Given the description of an element on the screen output the (x, y) to click on. 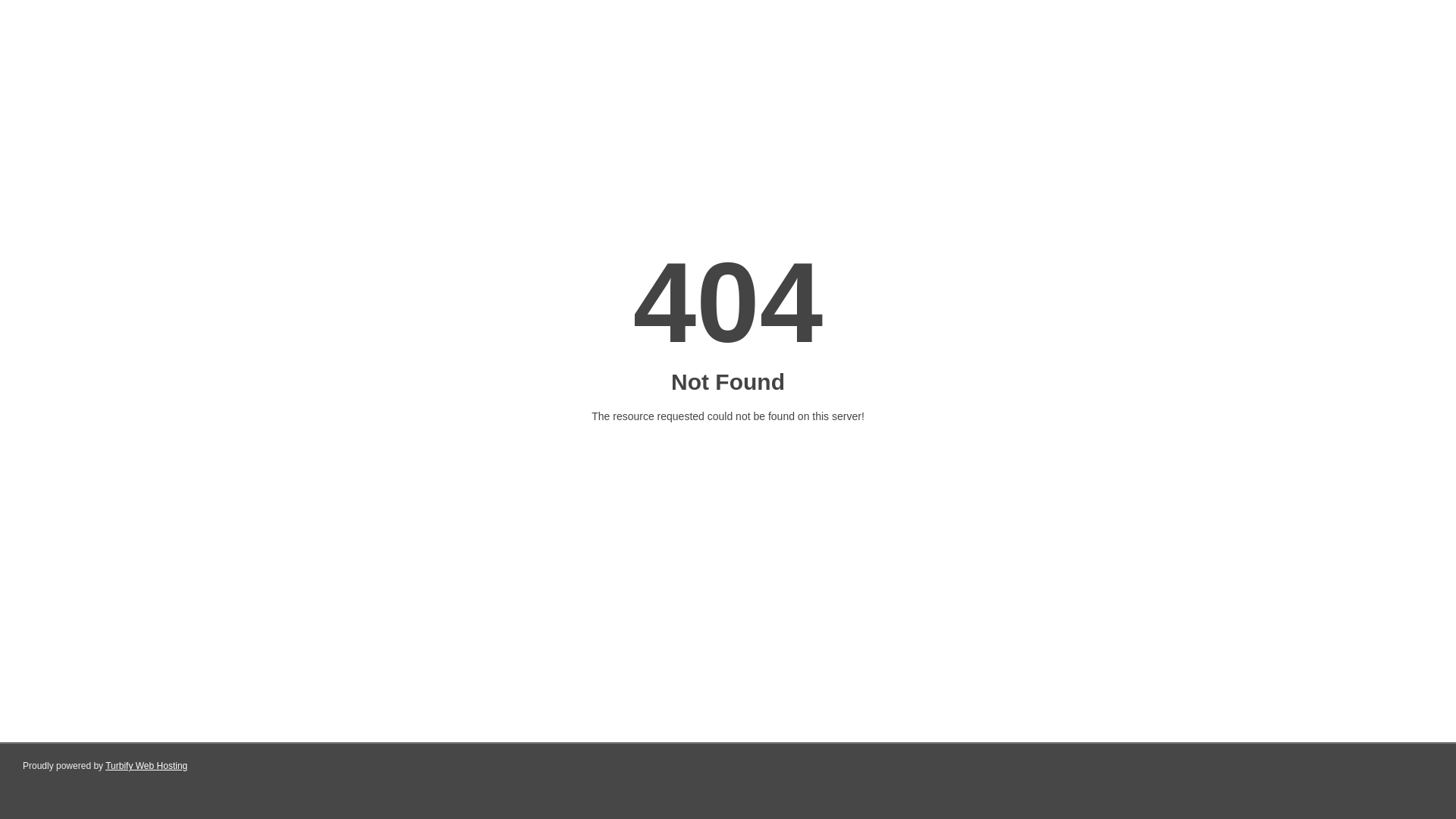
Turbify Web Hosting Element type: text (146, 765)
